Given the description of an element on the screen output the (x, y) to click on. 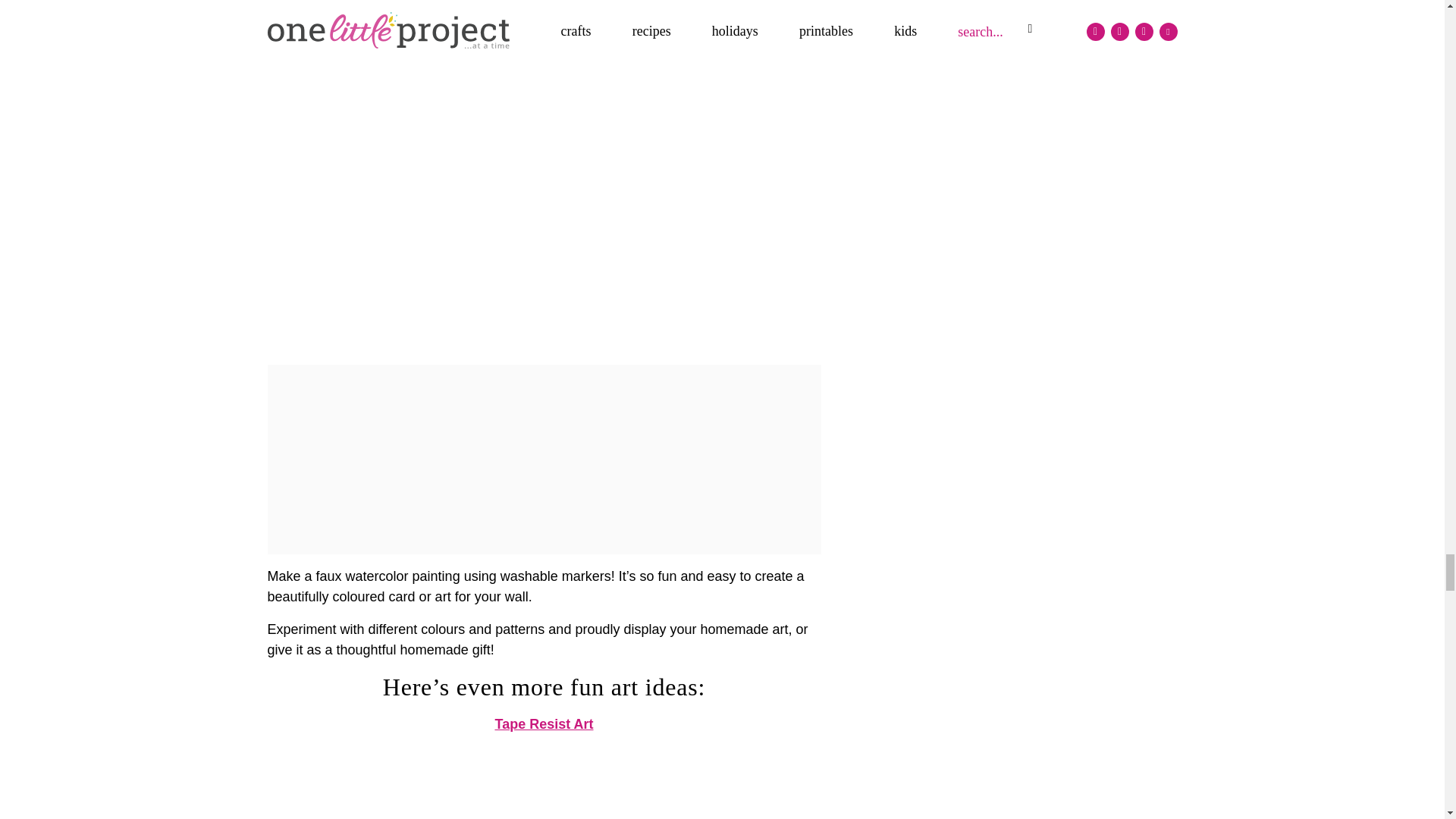
Masking Tape Resist Art (543, 782)
